Given the description of an element on the screen output the (x, y) to click on. 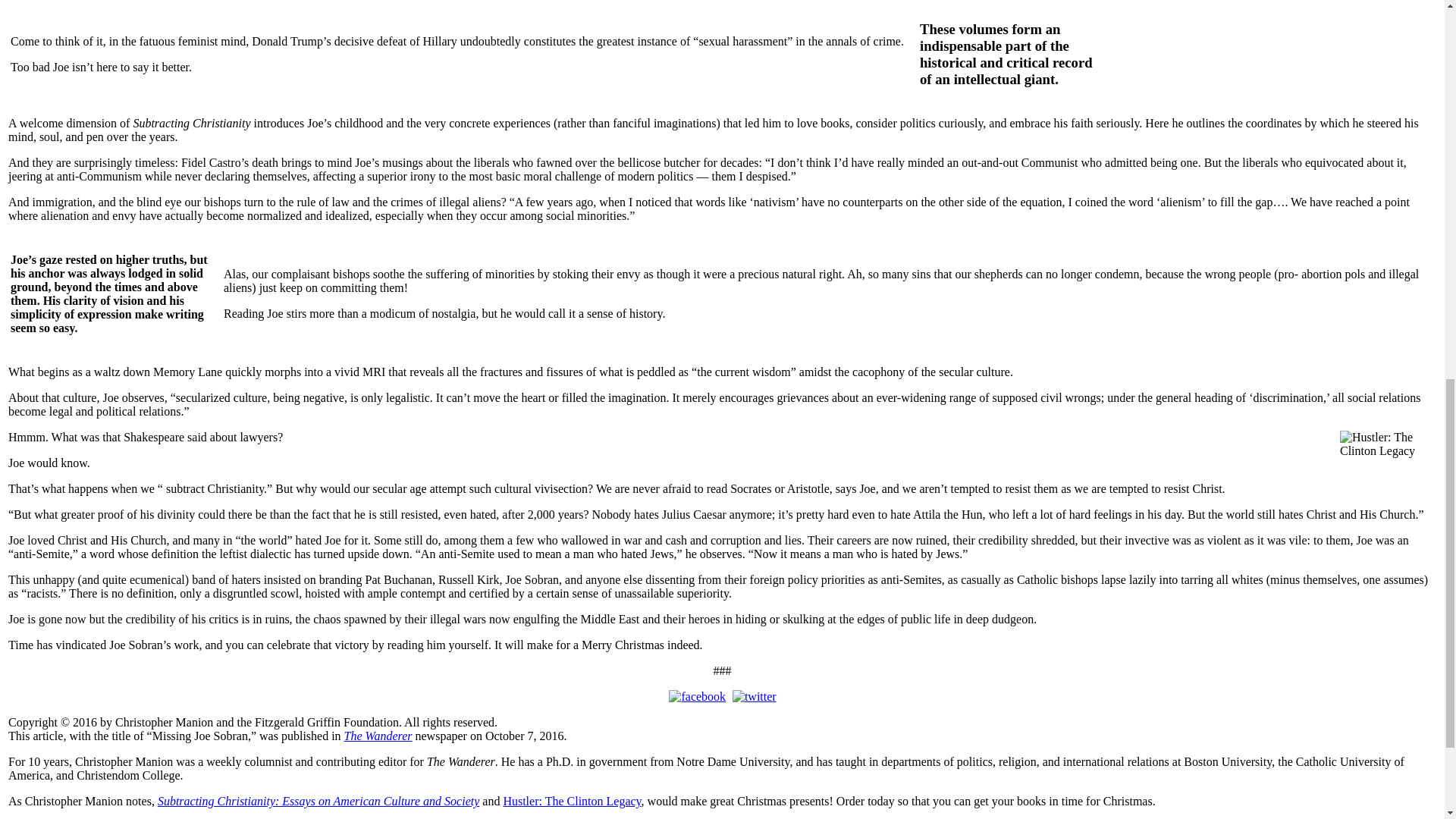
The Wanderer (377, 735)
Hustler: The Clinton Legacy (571, 800)
